Given the description of an element on the screen output the (x, y) to click on. 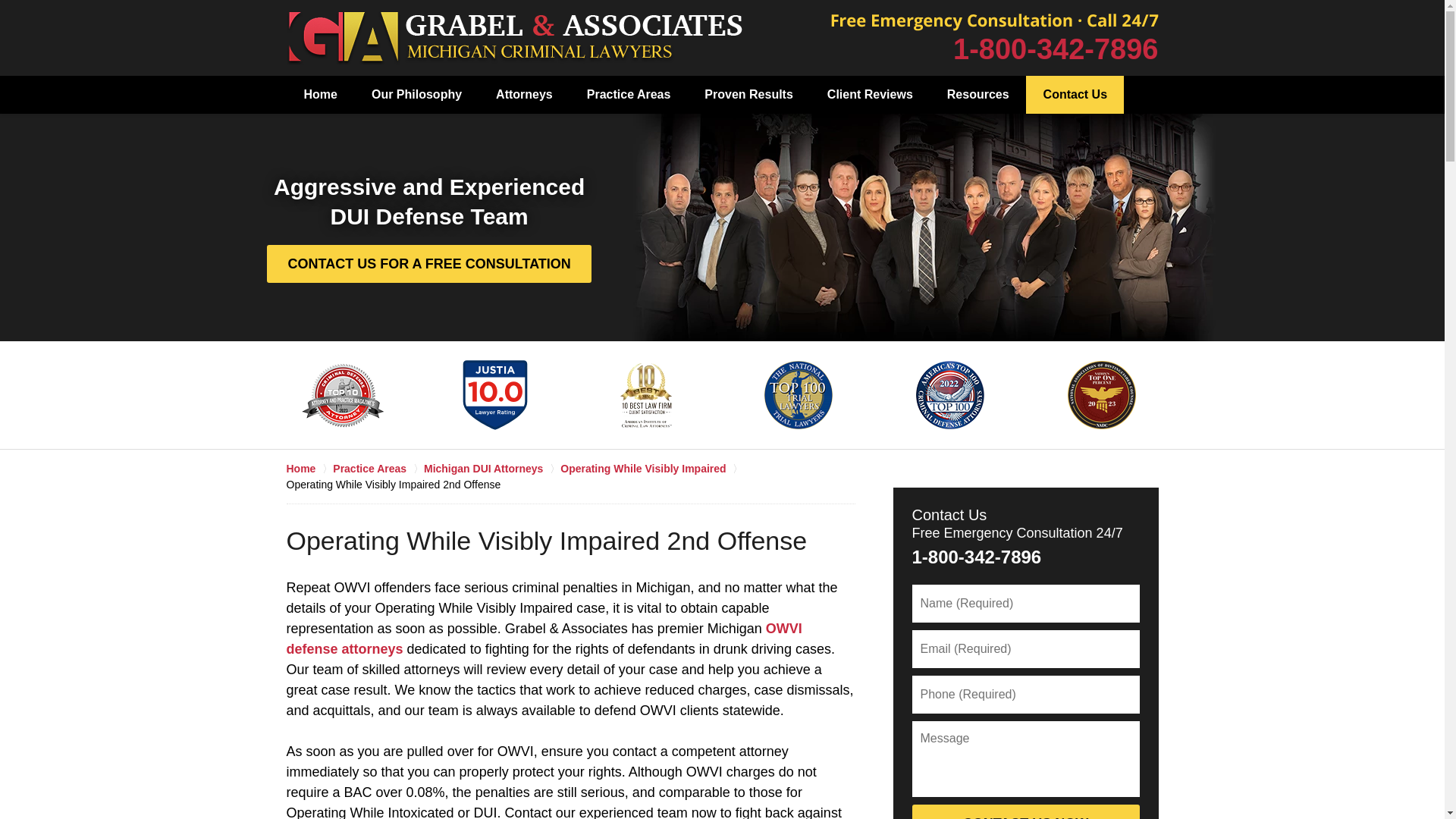
1-800-342-7896 (1055, 49)
Practice Areas (628, 94)
Our Philosophy (416, 94)
Resources (978, 94)
Back to Home (514, 37)
Contact Us (1075, 94)
Proven Results (748, 94)
CONTACT US FOR A FREE CONSULTATION (428, 263)
Client Reviews (869, 94)
Attorneys (524, 94)
Home (319, 94)
